Given the description of an element on the screen output the (x, y) to click on. 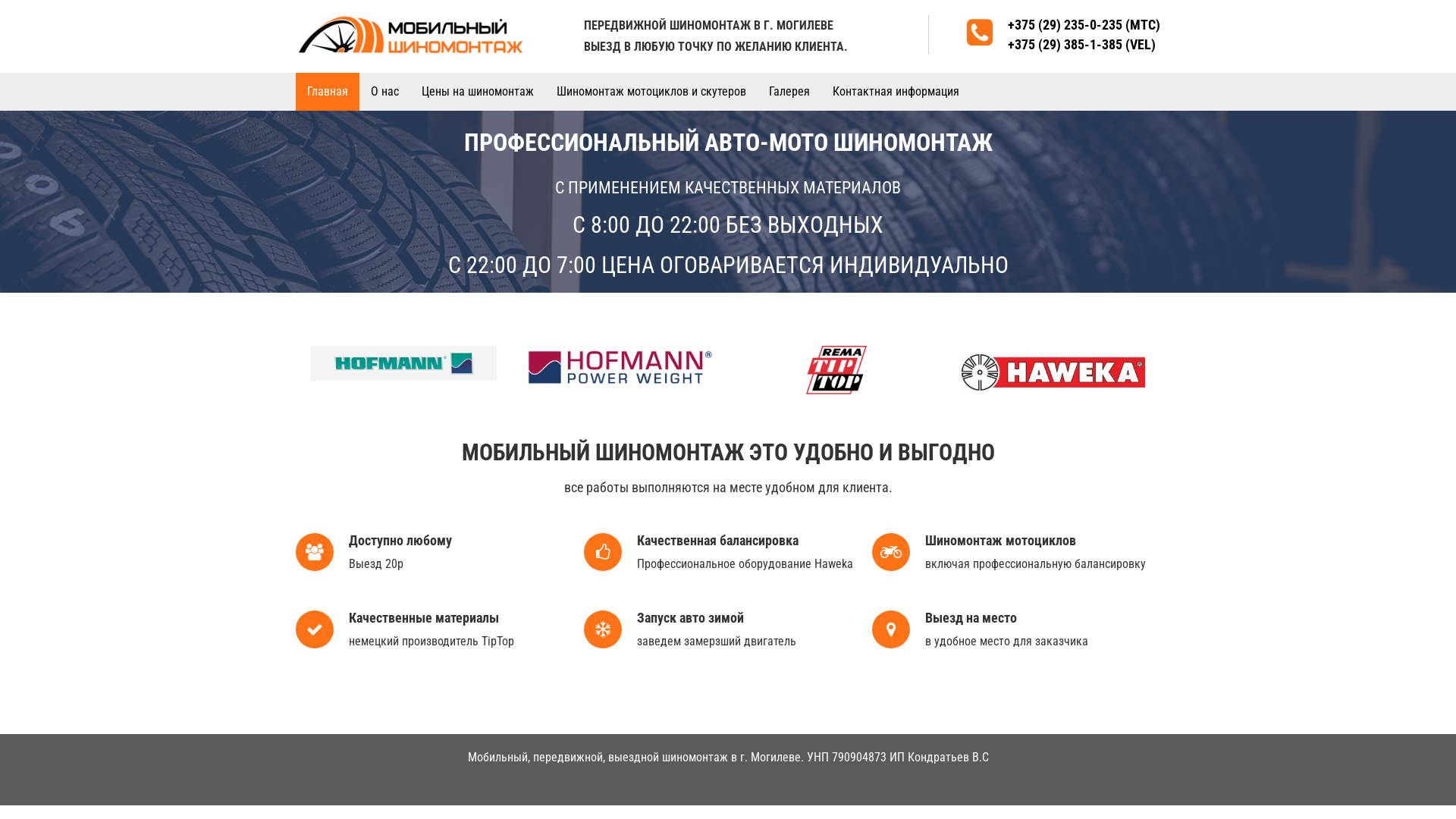
+375 (29) 385-1-385 (VEL) Element type: text (1081, 44)
LiveInternet Element type: hover (727, 778)
